Given the description of an element on the screen output the (x, y) to click on. 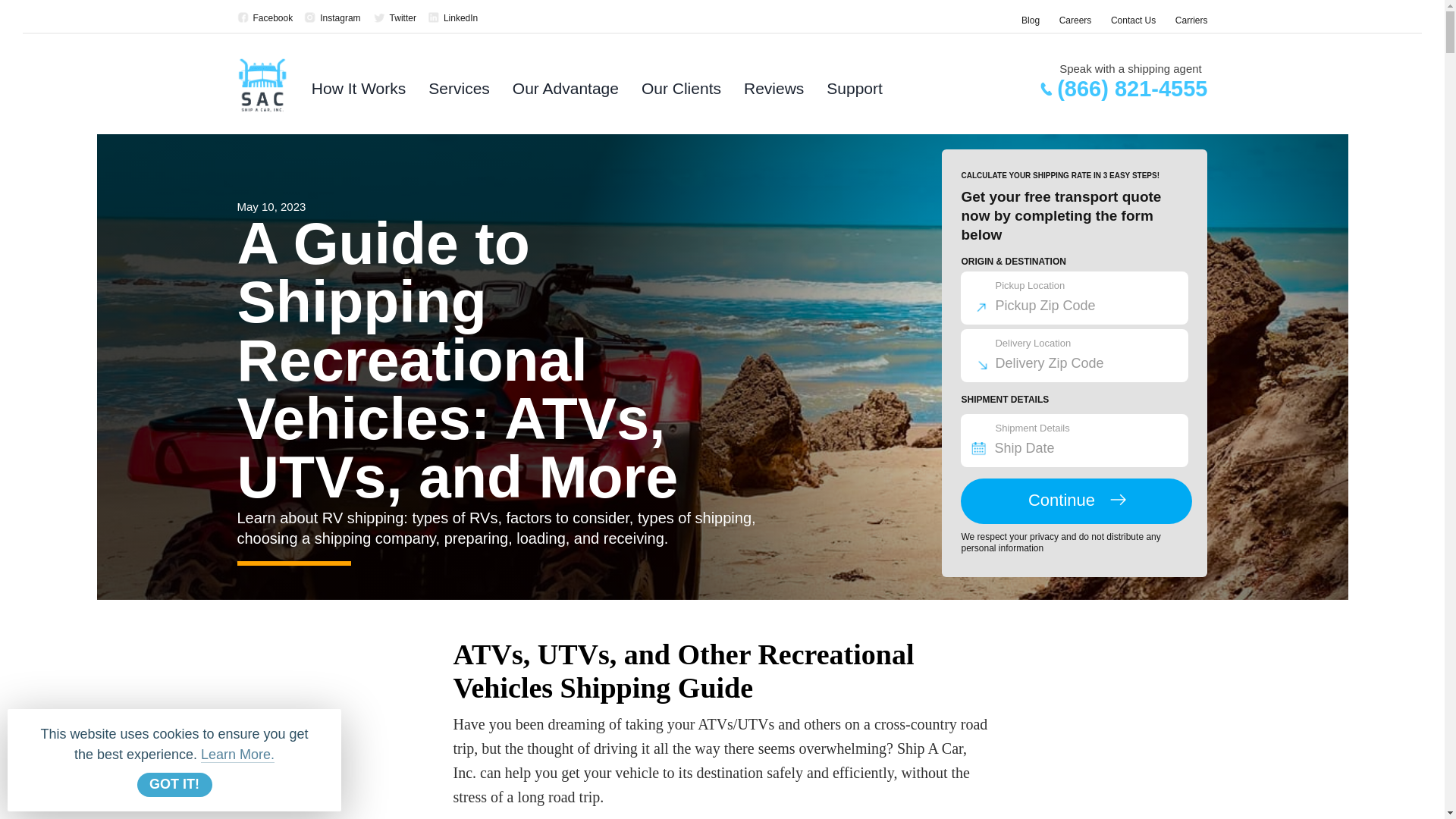
Carriers (1191, 20)
Services (458, 92)
Services (458, 92)
Contact Us (1133, 20)
How It Works (358, 92)
Carriers (1191, 20)
Blog (1030, 20)
Blog (1030, 20)
How It Works (358, 92)
Twitter (394, 17)
SHIP A CAR, INC. (452, 17)
Careers (1075, 20)
LinkedIn (452, 17)
shipacarinc (331, 17)
Instagram (331, 17)
